Given the description of an element on the screen output the (x, y) to click on. 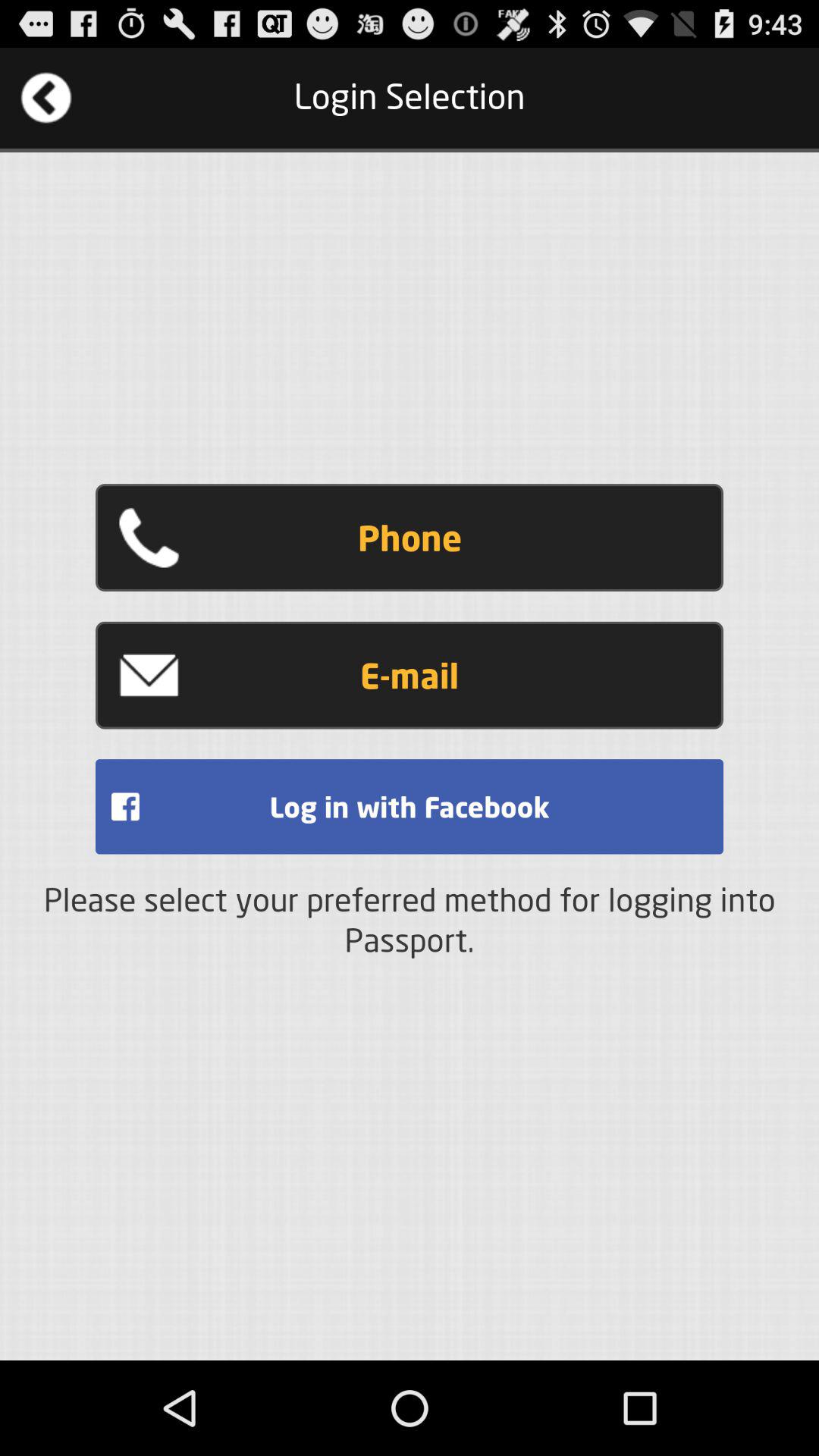
tap phone item (409, 537)
